Given the description of an element on the screen output the (x, y) to click on. 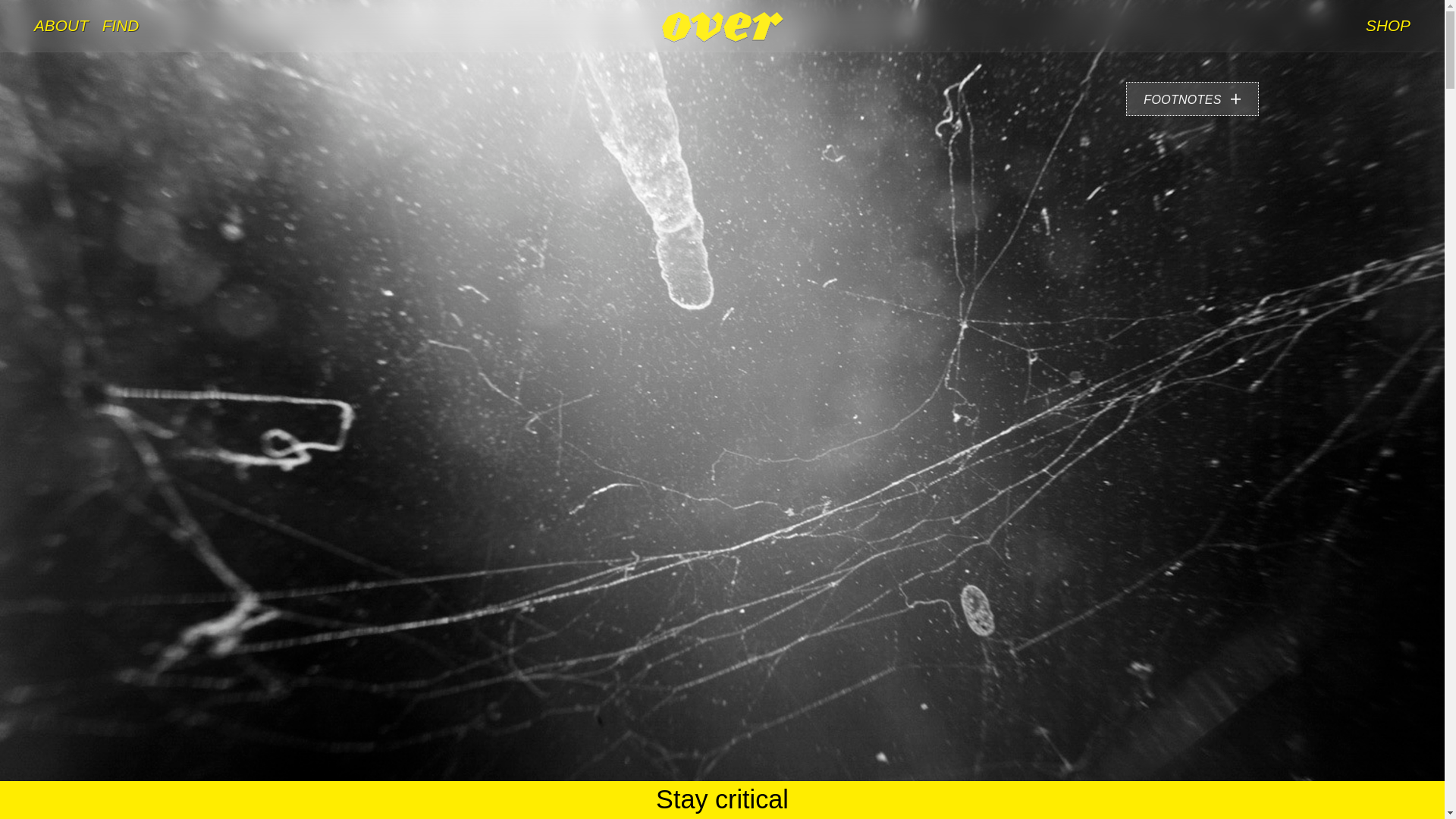
FIND (120, 25)
ABOUT (60, 25)
SHOP (1387, 25)
